Given the description of an element on the screen output the (x, y) to click on. 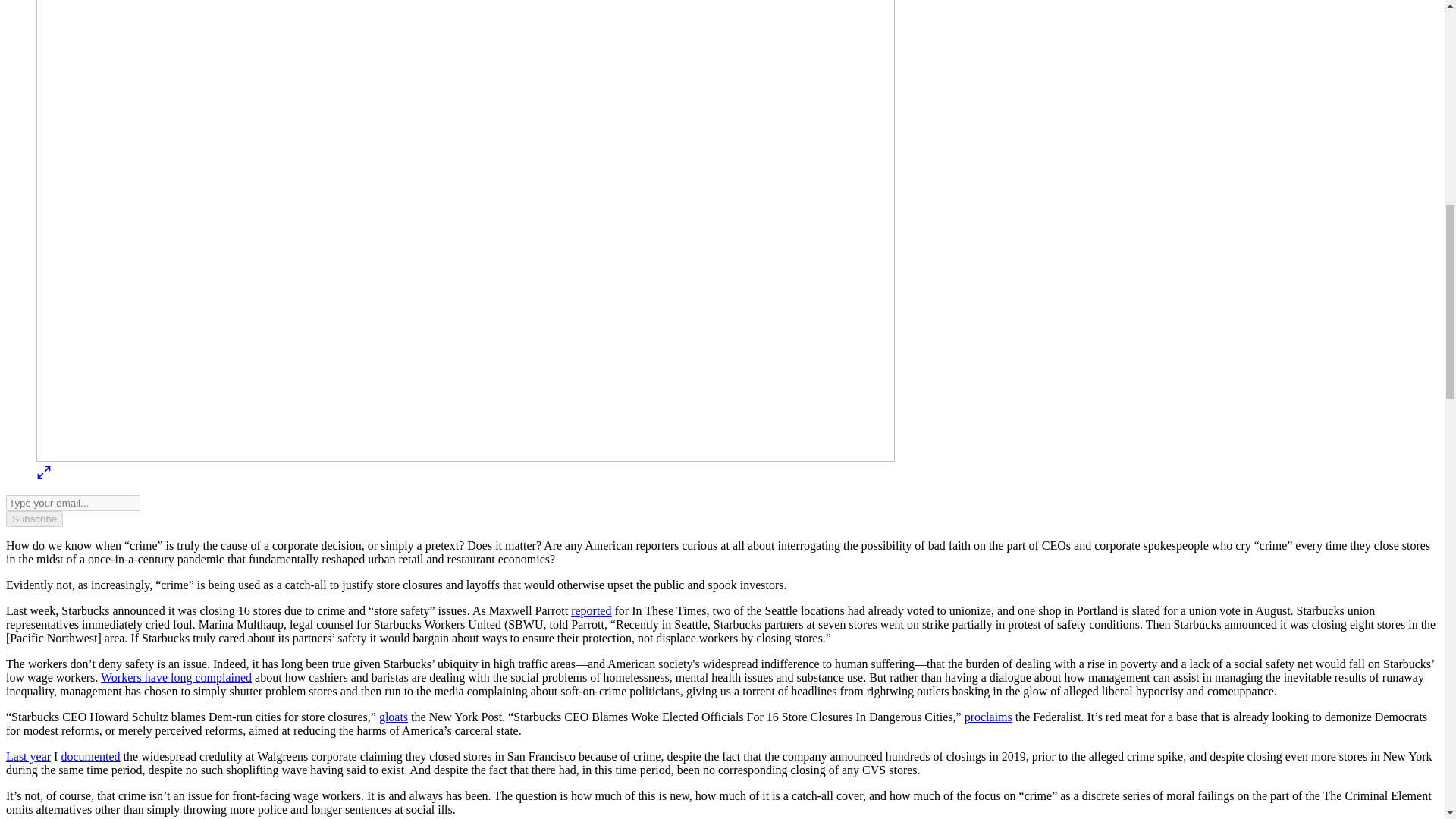
Workers have long complained (175, 676)
reported (590, 610)
Subscribe (33, 519)
proclaims (987, 716)
documented (90, 756)
Last year (27, 756)
gloats (392, 716)
